Given the description of an element on the screen output the (x, y) to click on. 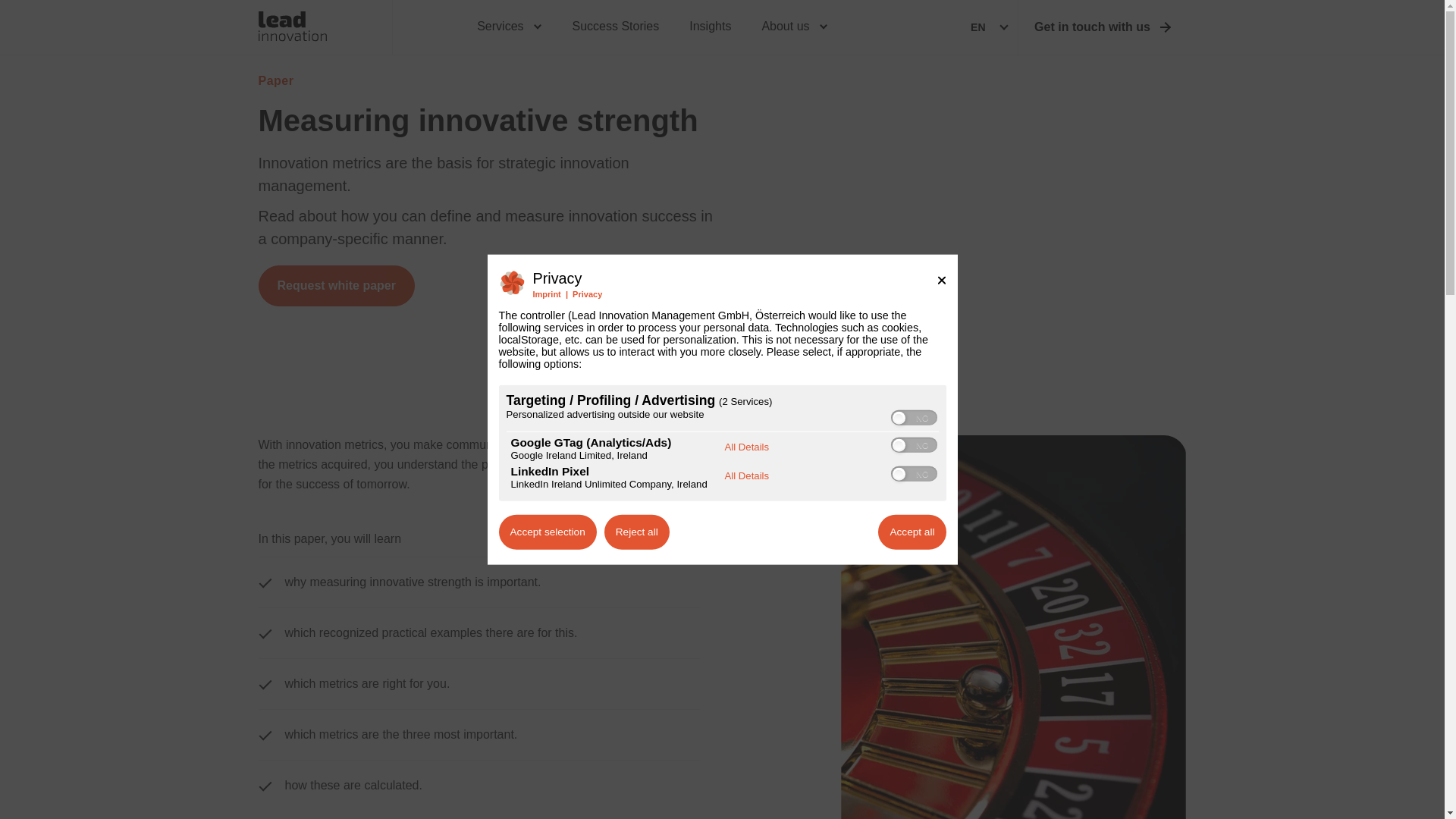
Success Stories (616, 27)
Request white paper (335, 285)
Get in touch with us (1101, 27)
Insights (709, 27)
Services (508, 27)
About us (794, 27)
